Given the description of an element on the screen output the (x, y) to click on. 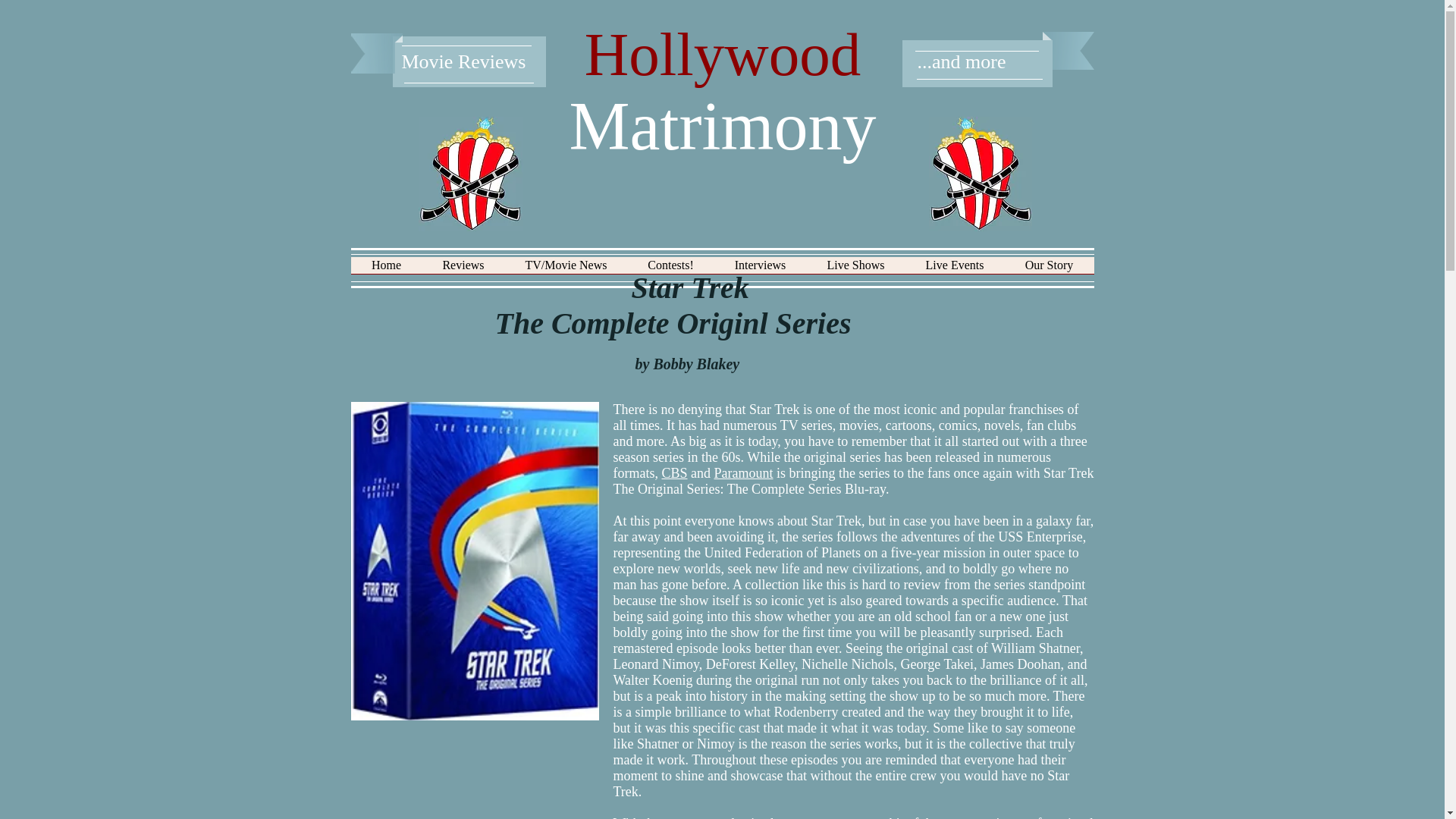
Our Story (1048, 270)
Contests! (670, 270)
CBS (674, 473)
Hollywood (723, 54)
Paramount (743, 473)
Live Shows (855, 270)
Home (386, 270)
Interviews (760, 270)
Live Events (954, 270)
Matrimony (722, 125)
